Given the description of an element on the screen output the (x, y) to click on. 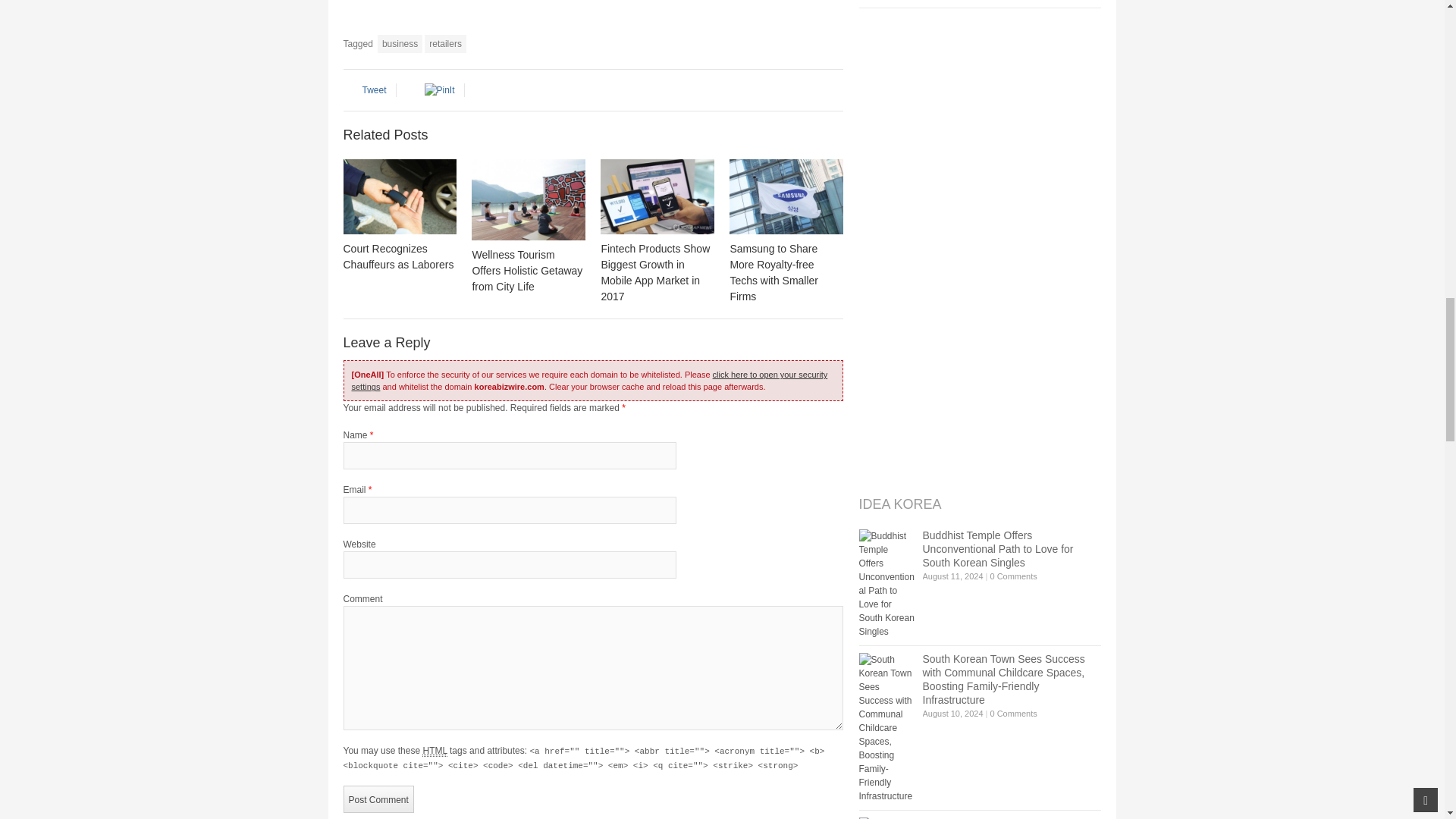
Wellness Tourism Offers Holistic Getaway from City Life (528, 199)
Court Recognizes Chauffeurs as Laborers (397, 256)
Post Comment (377, 799)
Court Recognizes Chauffeurs as Laborers (399, 196)
